Given the description of an element on the screen output the (x, y) to click on. 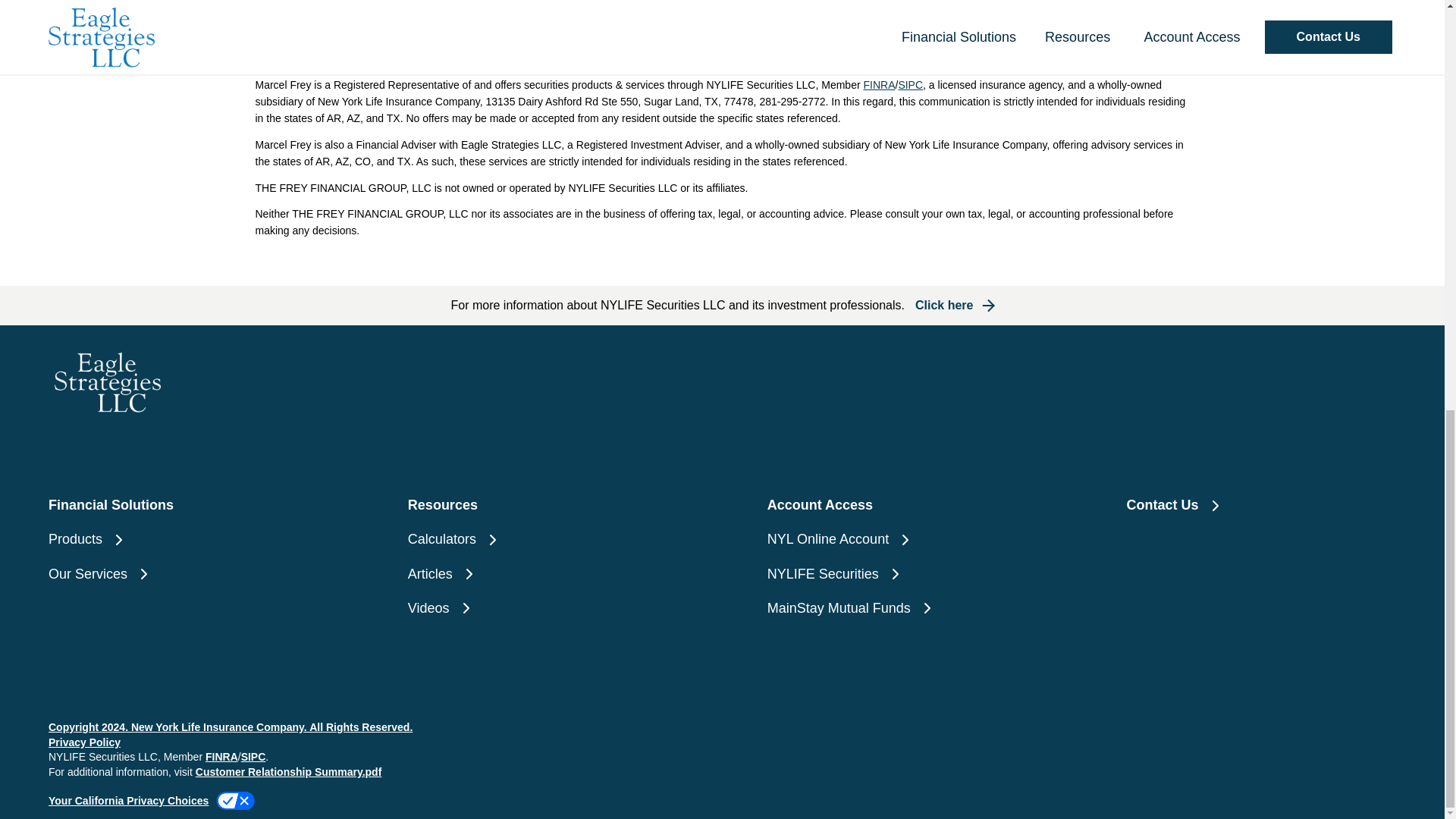
FINRA (879, 84)
Videos (542, 608)
Products (182, 538)
NYL Online Account (901, 538)
Calculators (542, 538)
Articles (542, 574)
NYL Online Account (901, 538)
right-arrow (987, 305)
NYLIFE Securities (901, 574)
Your California Privacy Choices (152, 800)
SIPC (910, 84)
Calculators (542, 538)
Customer Relationship Summary.pdf (288, 771)
Contact Us (1261, 505)
Privacy Policy (84, 742)
